Given the description of an element on the screen output the (x, y) to click on. 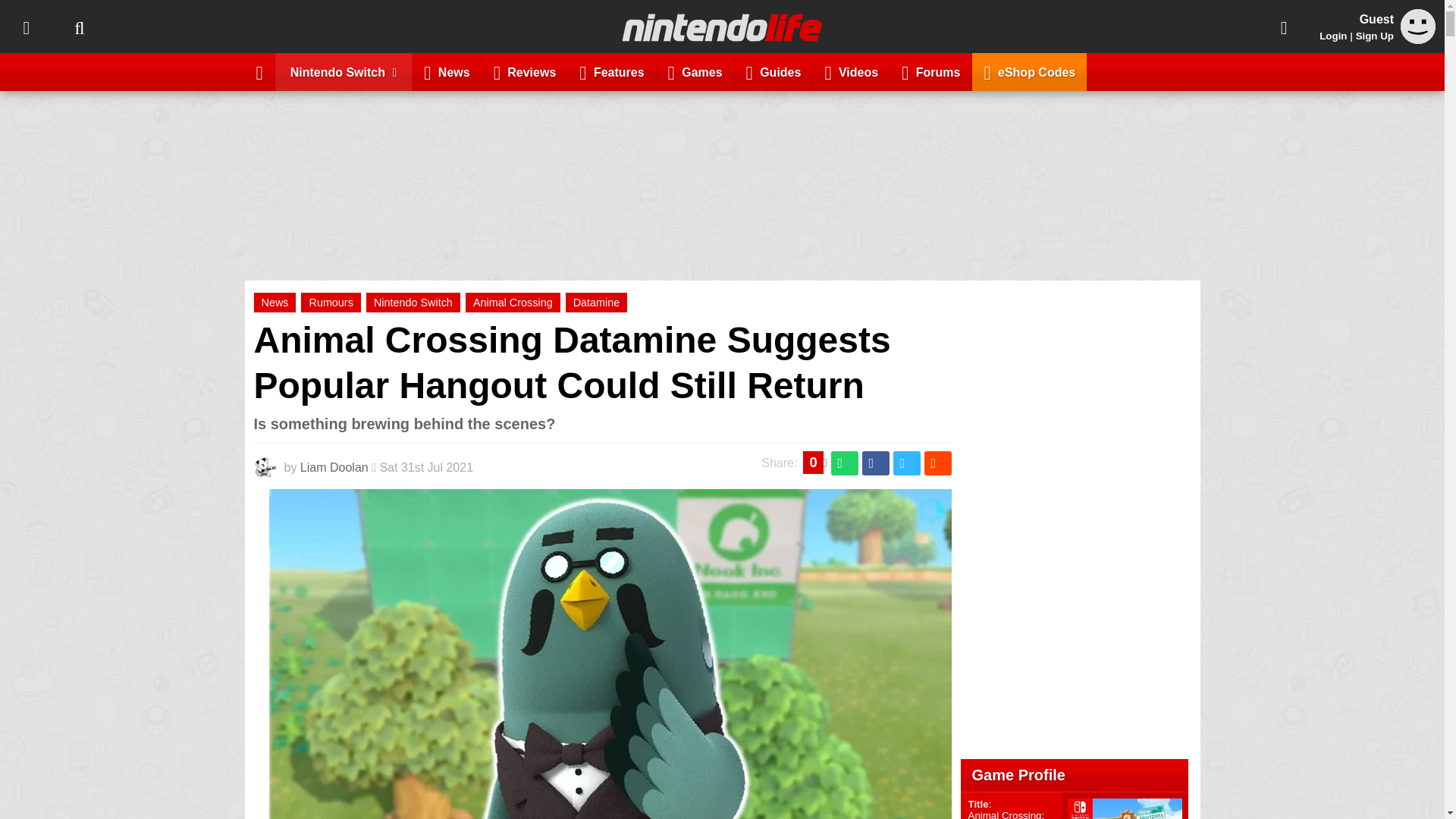
Login (1332, 35)
Guest (1417, 39)
Nintendo Life (721, 27)
Forums (930, 71)
Topics (26, 26)
Reviews (525, 71)
Nintendo Life (721, 27)
Sign Up (1374, 35)
Videos (850, 71)
Games (695, 71)
Search (79, 26)
Features (611, 71)
Guest (1417, 26)
Nintendo Switch (344, 71)
Share This Page (1283, 26)
